Given the description of an element on the screen output the (x, y) to click on. 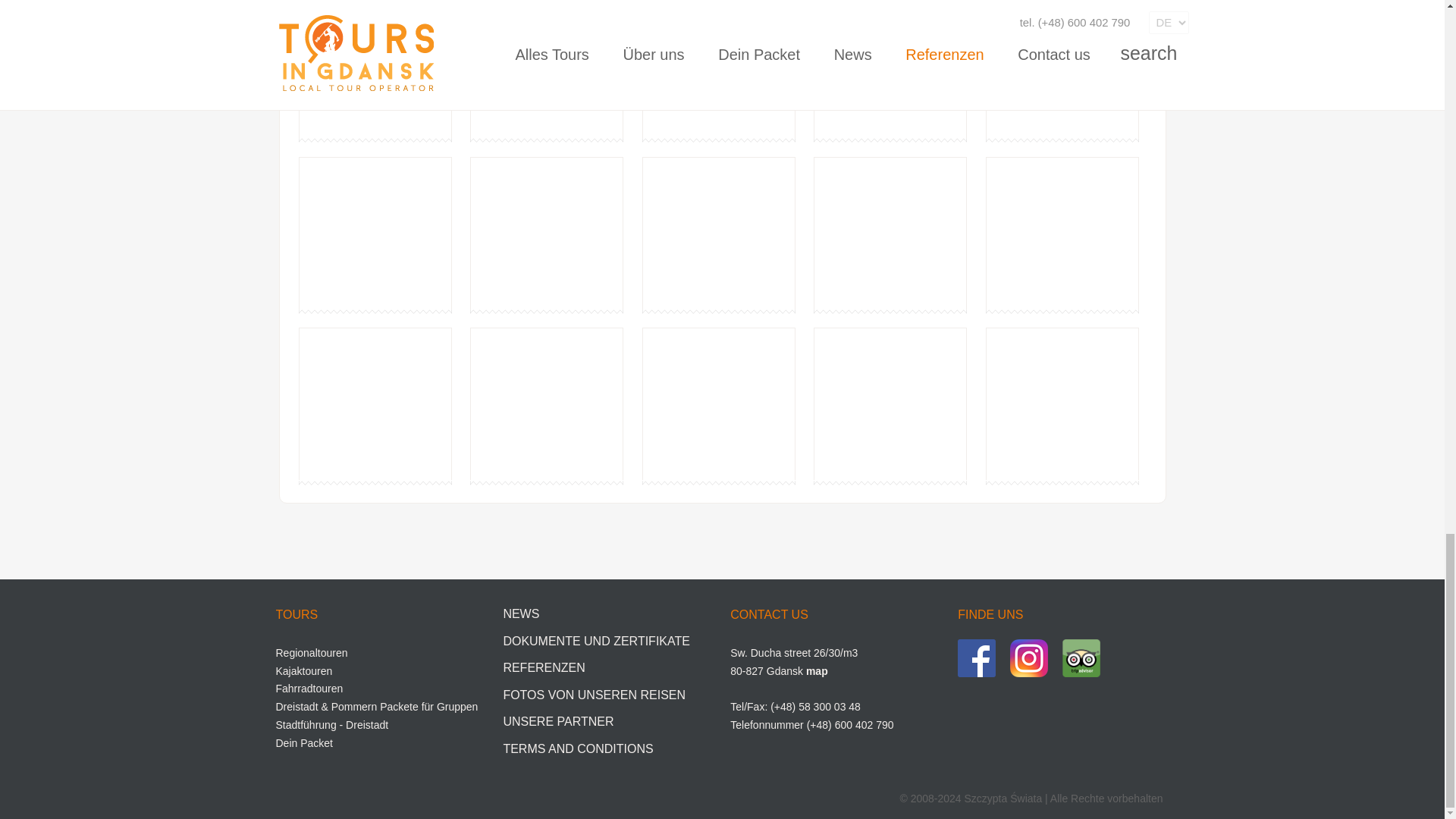
TOURS (297, 615)
Fahrradtouren (309, 688)
Kajaktouren (304, 670)
Regionaltouren (311, 653)
